Given the description of an element on the screen output the (x, y) to click on. 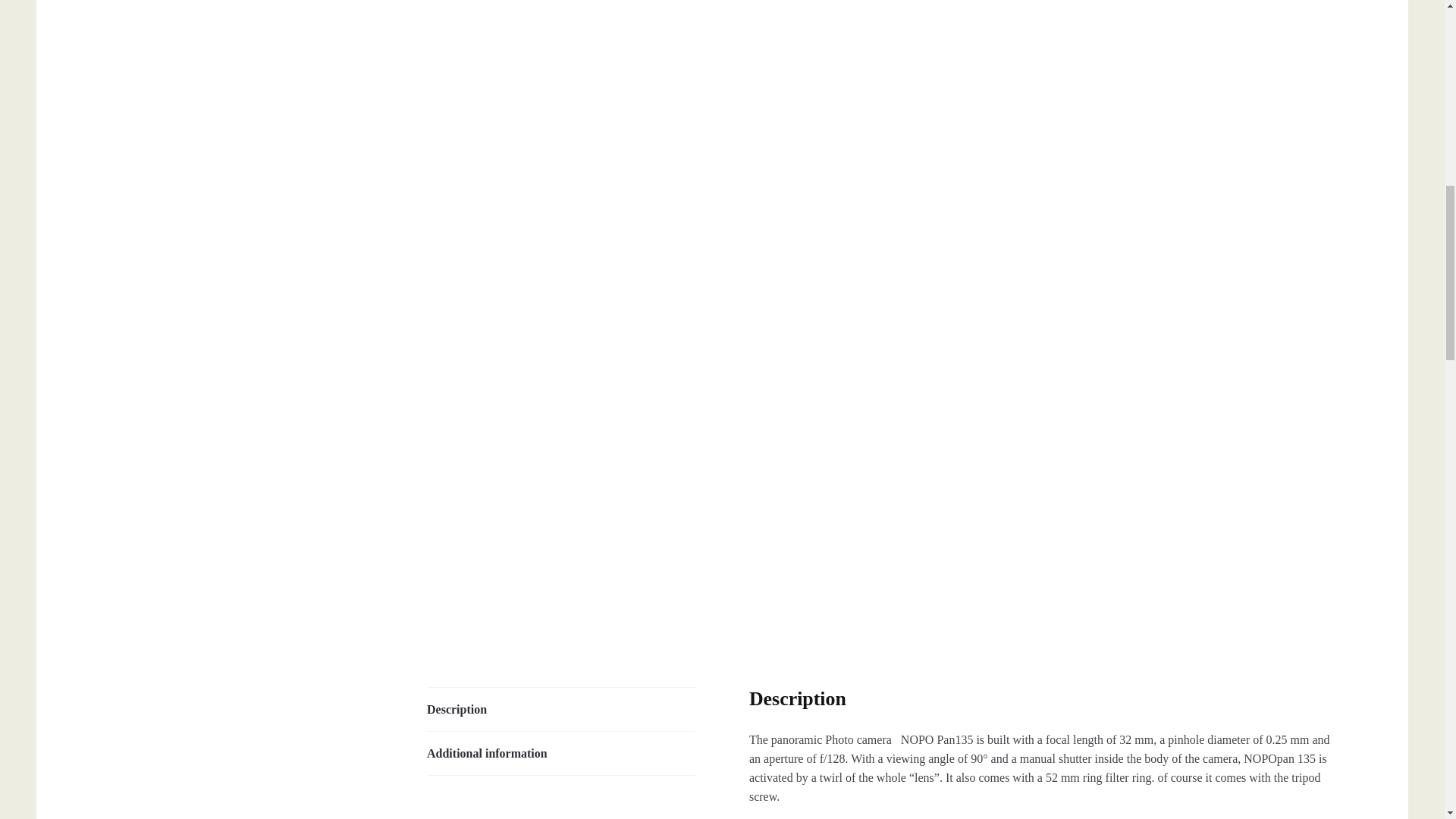
Additional information (560, 753)
Description (560, 709)
